Given the description of an element on the screen output the (x, y) to click on. 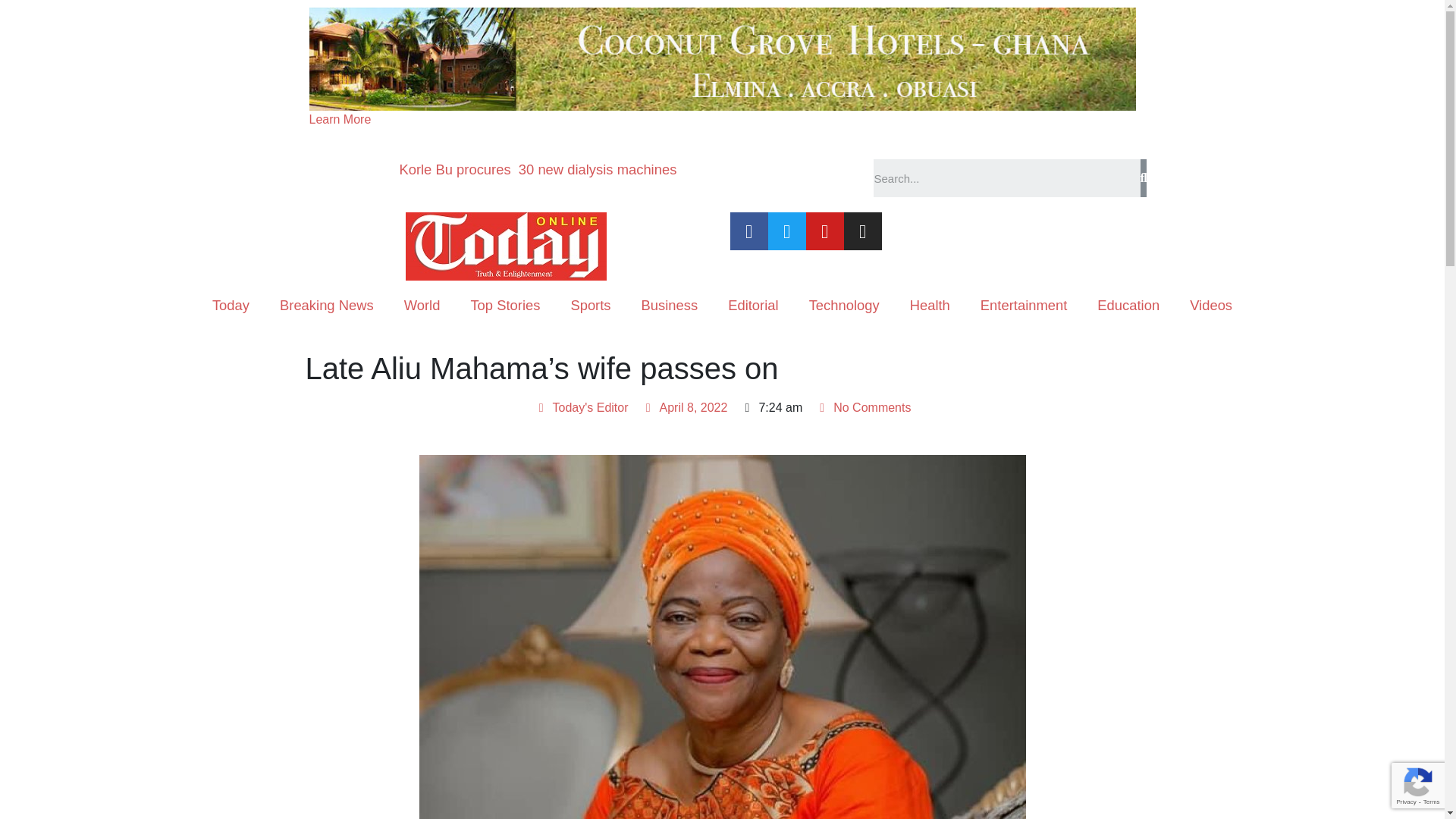
World (421, 305)
Sports (590, 305)
Today's Editor (581, 407)
Korle Bu procures  30 new dialysis machines (537, 169)
Editorial (753, 305)
Learn More (339, 119)
Today (230, 305)
Health (930, 305)
Top Stories (504, 305)
Education (1127, 305)
